Given the description of an element on the screen output the (x, y) to click on. 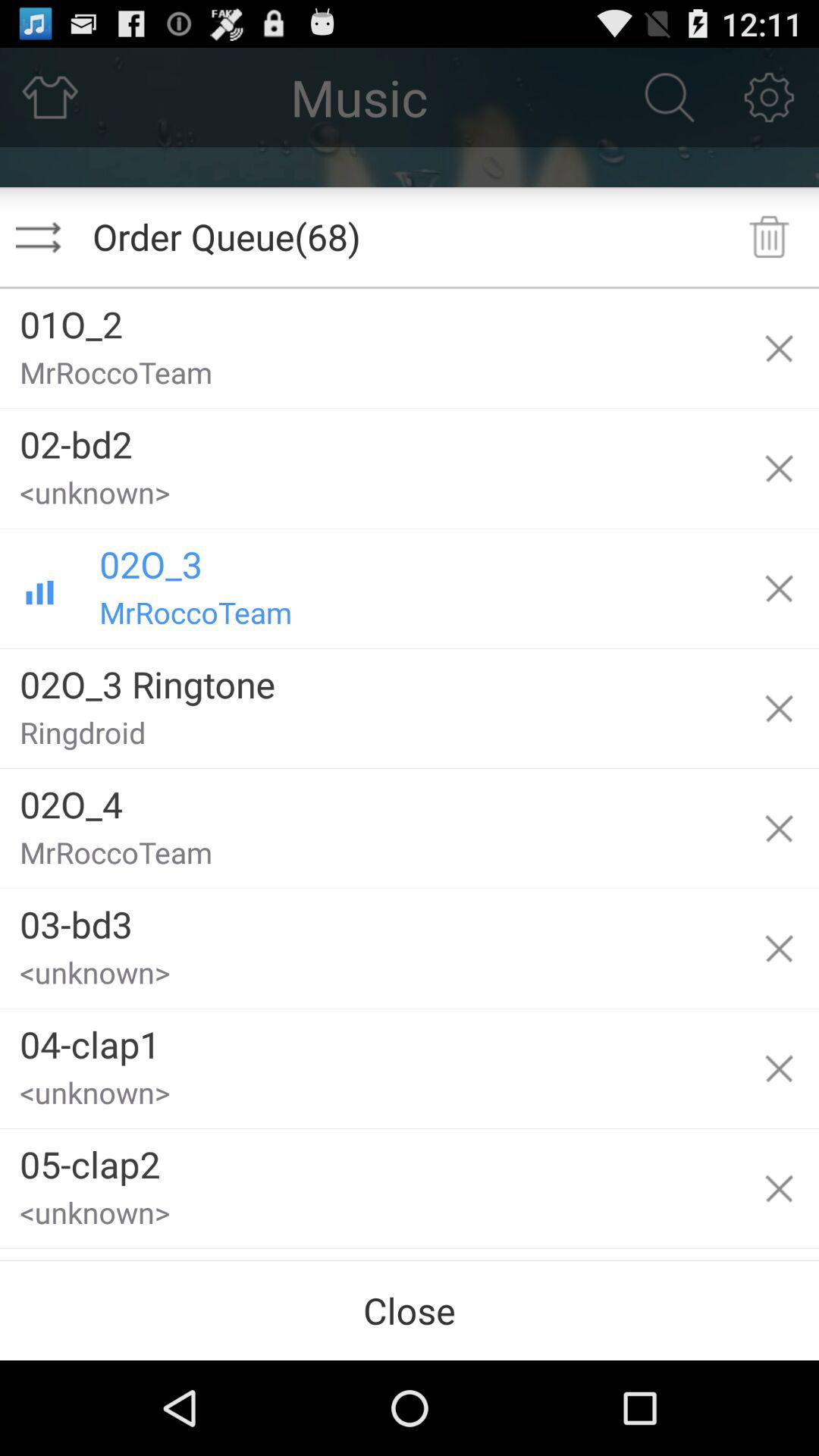
jump until close (409, 1310)
